Given the description of an element on the screen output the (x, y) to click on. 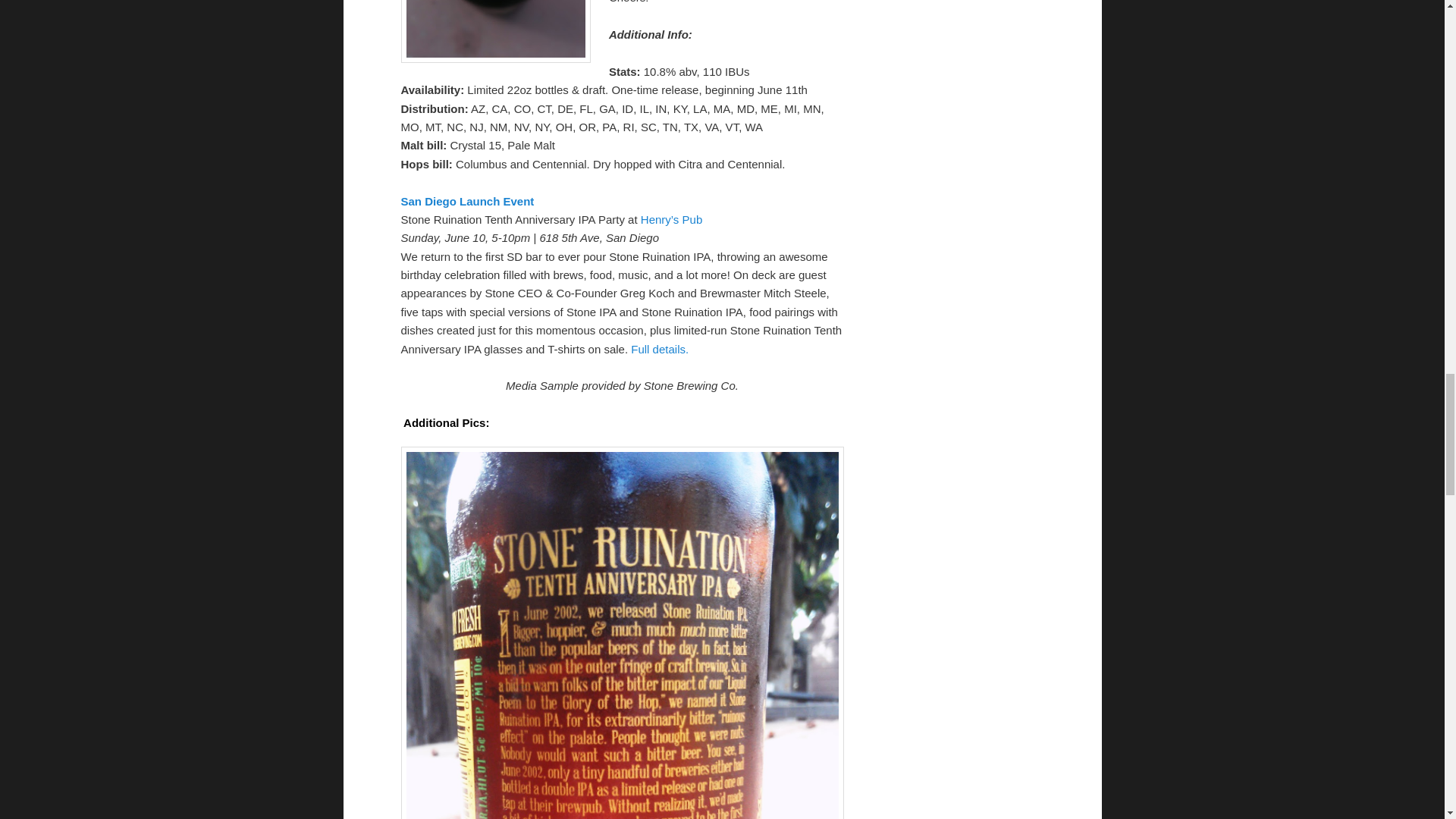
cap (494, 31)
Stone Ruination Tenth Anniversary IPA (659, 349)
Henry's Pub in San Diego (670, 219)
Stone Ruination Tenth Anniversary IPA launch party (467, 201)
